Given the description of an element on the screen output the (x, y) to click on. 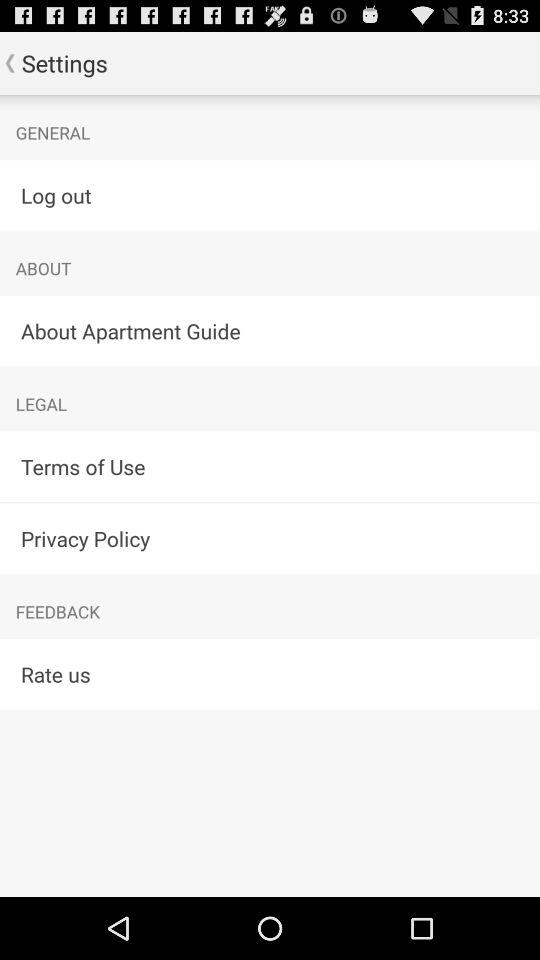
press app below the feedback item (270, 673)
